Given the description of an element on the screen output the (x, y) to click on. 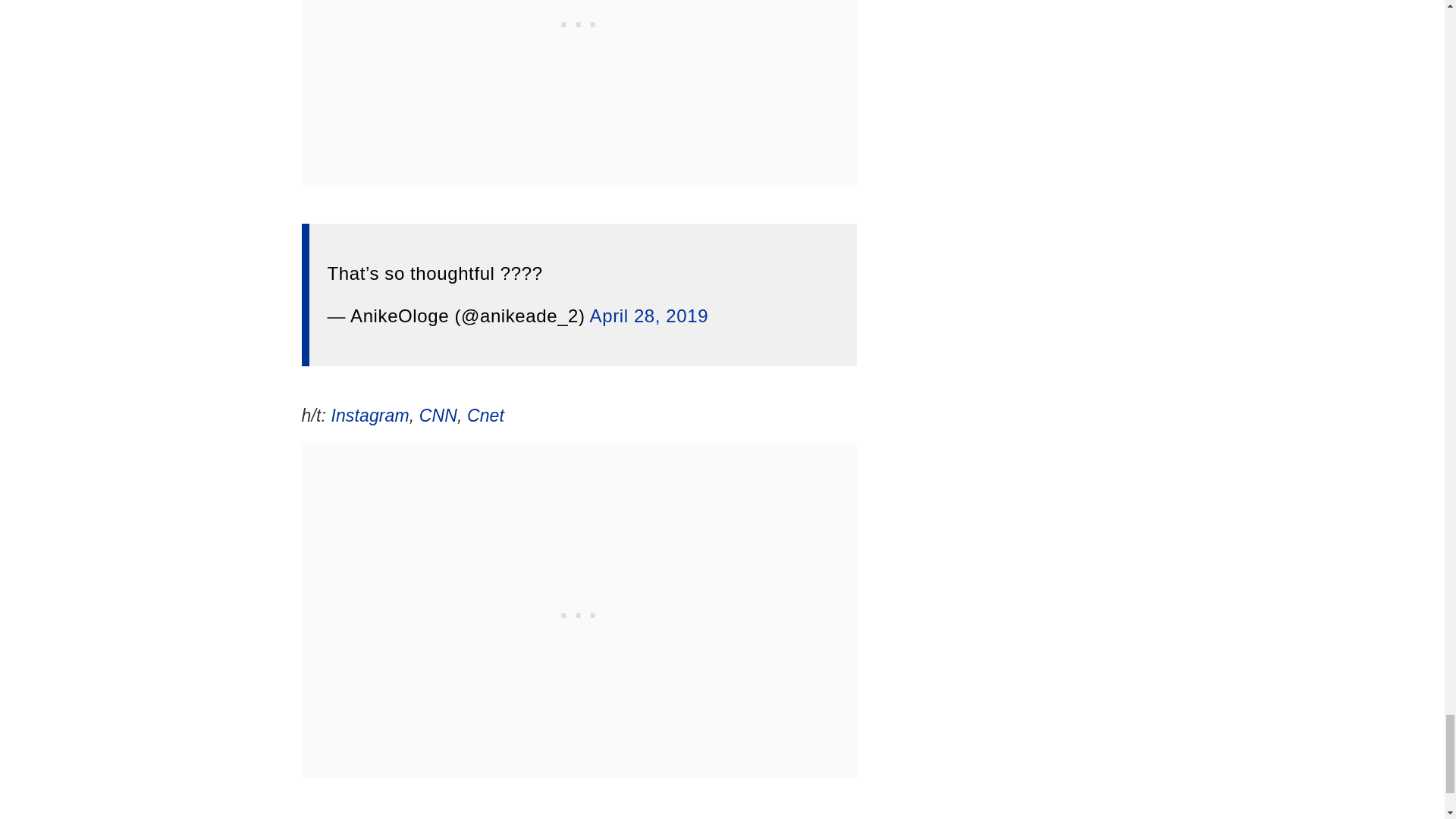
April 28, 2019 (649, 315)
Instagram (369, 415)
Cnet (485, 415)
CNN (438, 415)
